Given the description of an element on the screen output the (x, y) to click on. 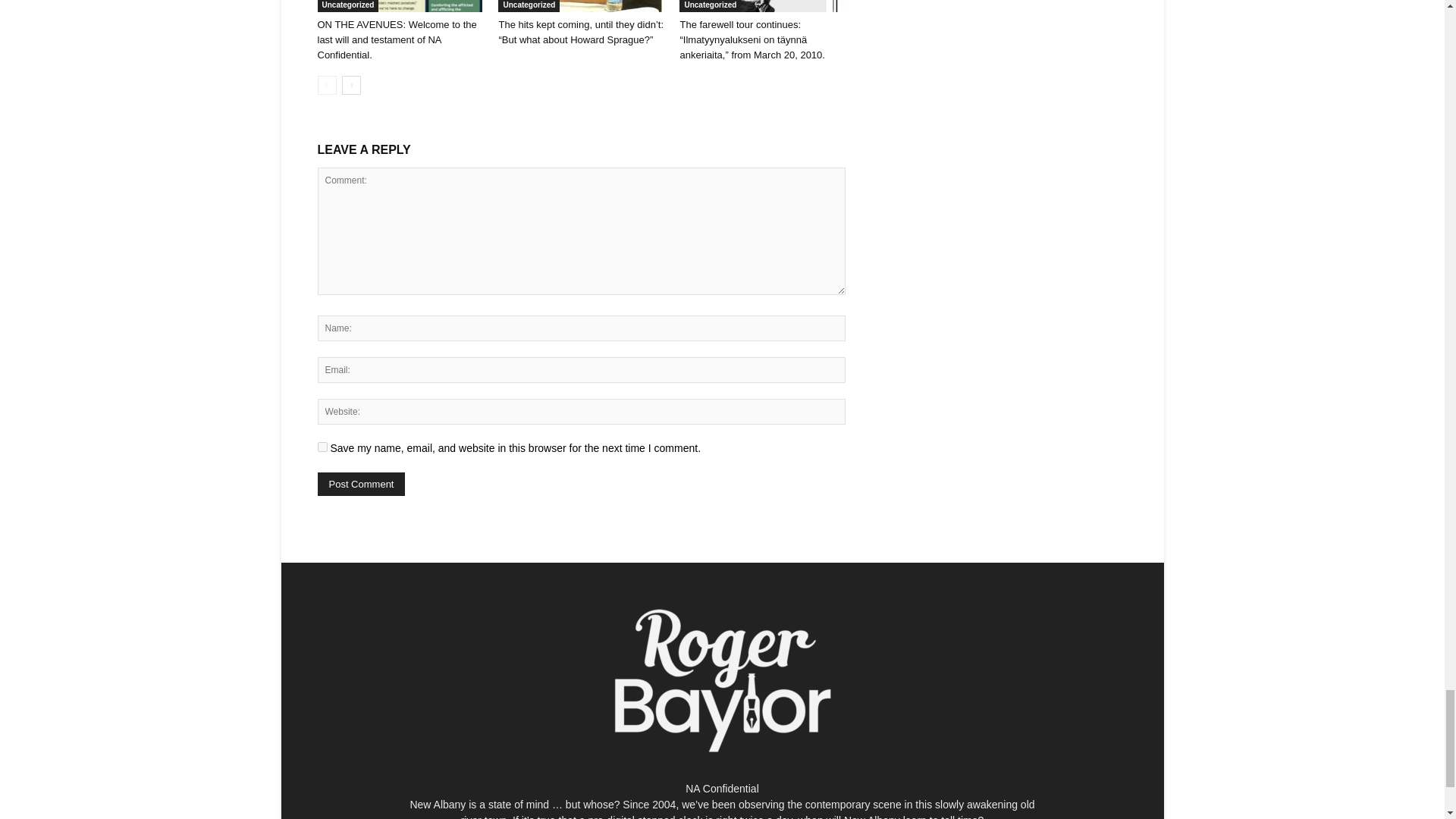
Post Comment (360, 484)
yes (321, 447)
